Given the description of an element on the screen output the (x, y) to click on. 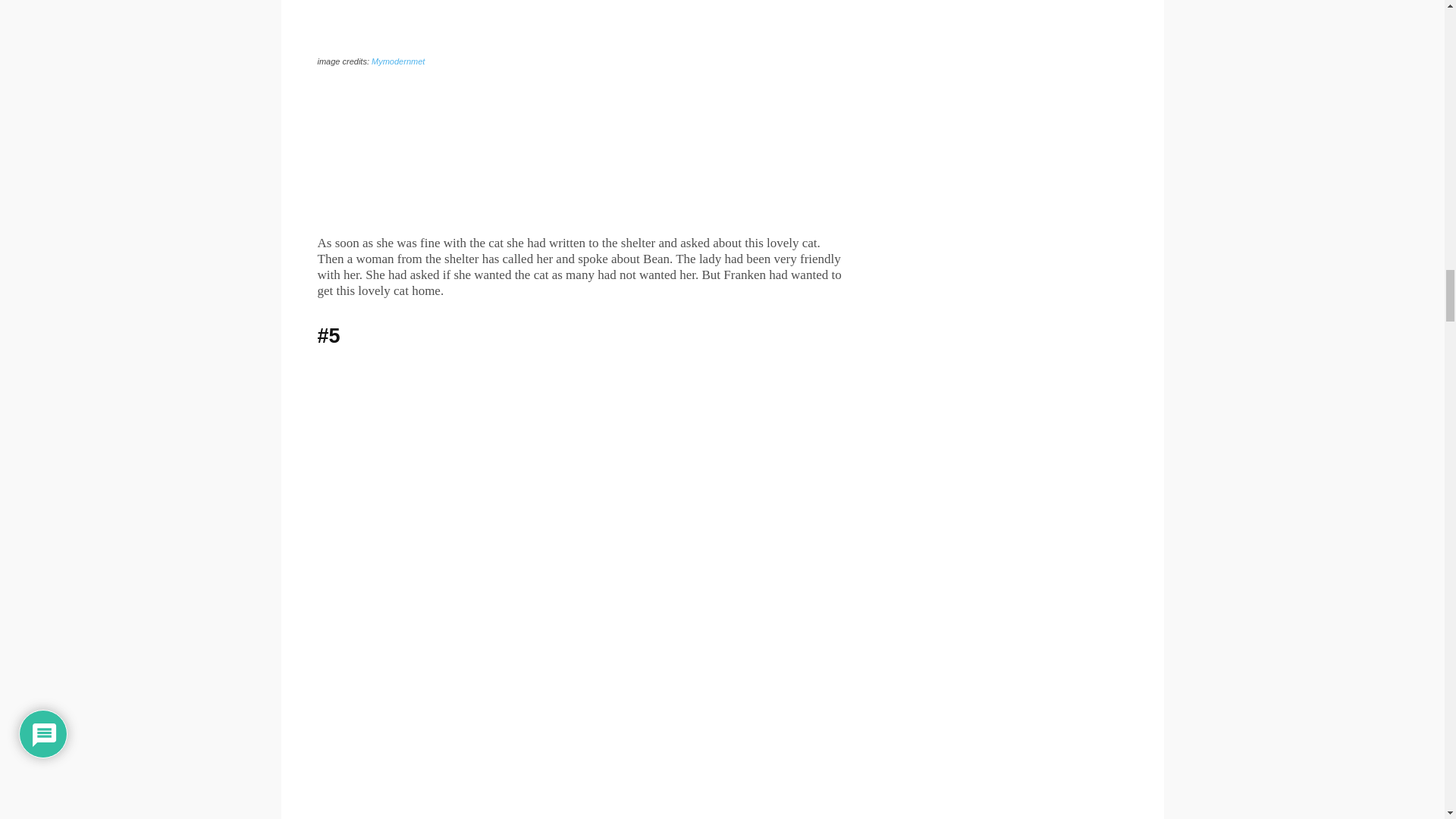
Mymodernmet (397, 61)
